Given the description of an element on the screen output the (x, y) to click on. 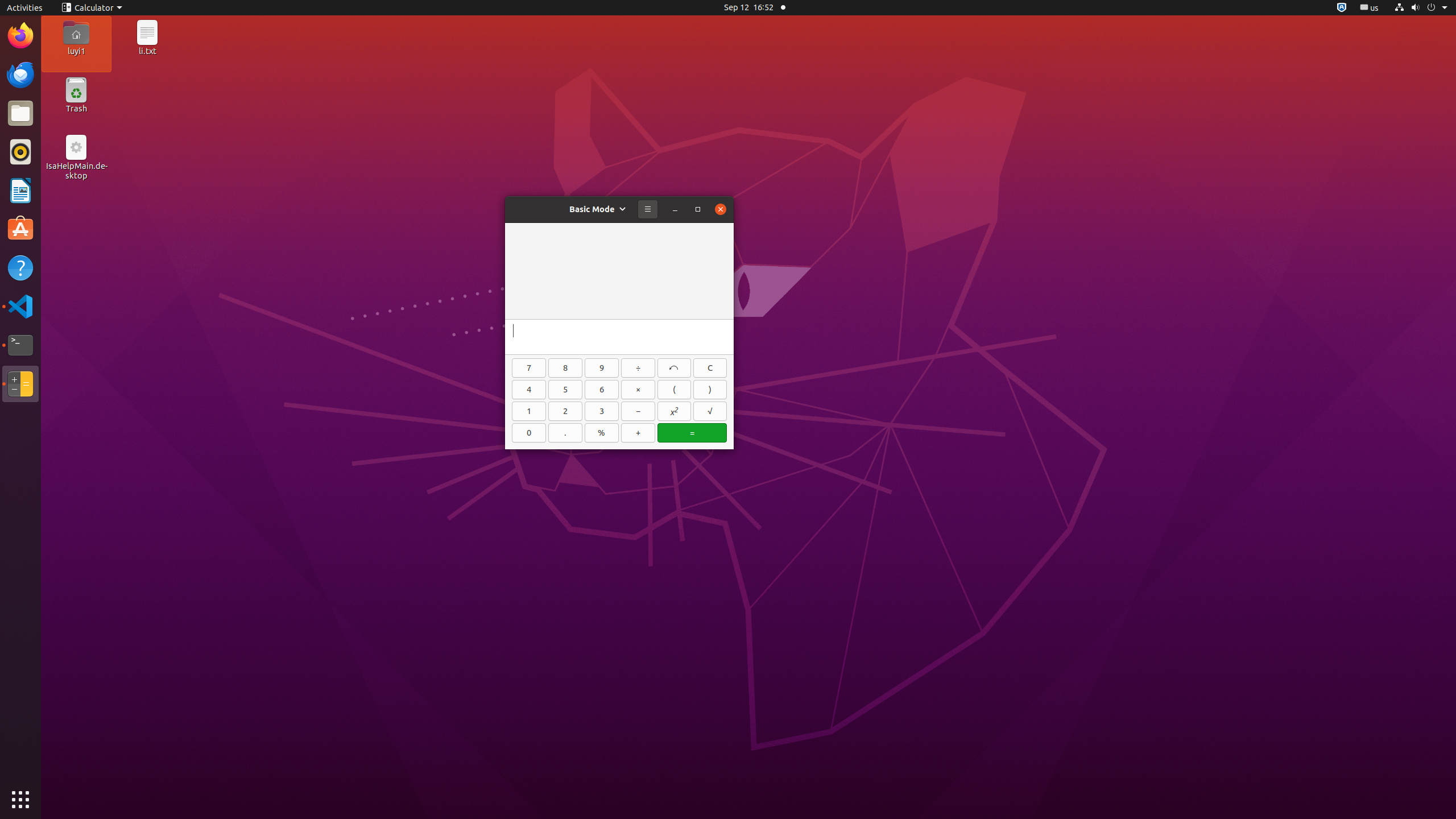
8 Element type: push-button (565, 367)
Exponent Element type: push-button (674, 410)
Activities Element type: label (24, 7)
